Given the description of an element on the screen output the (x, y) to click on. 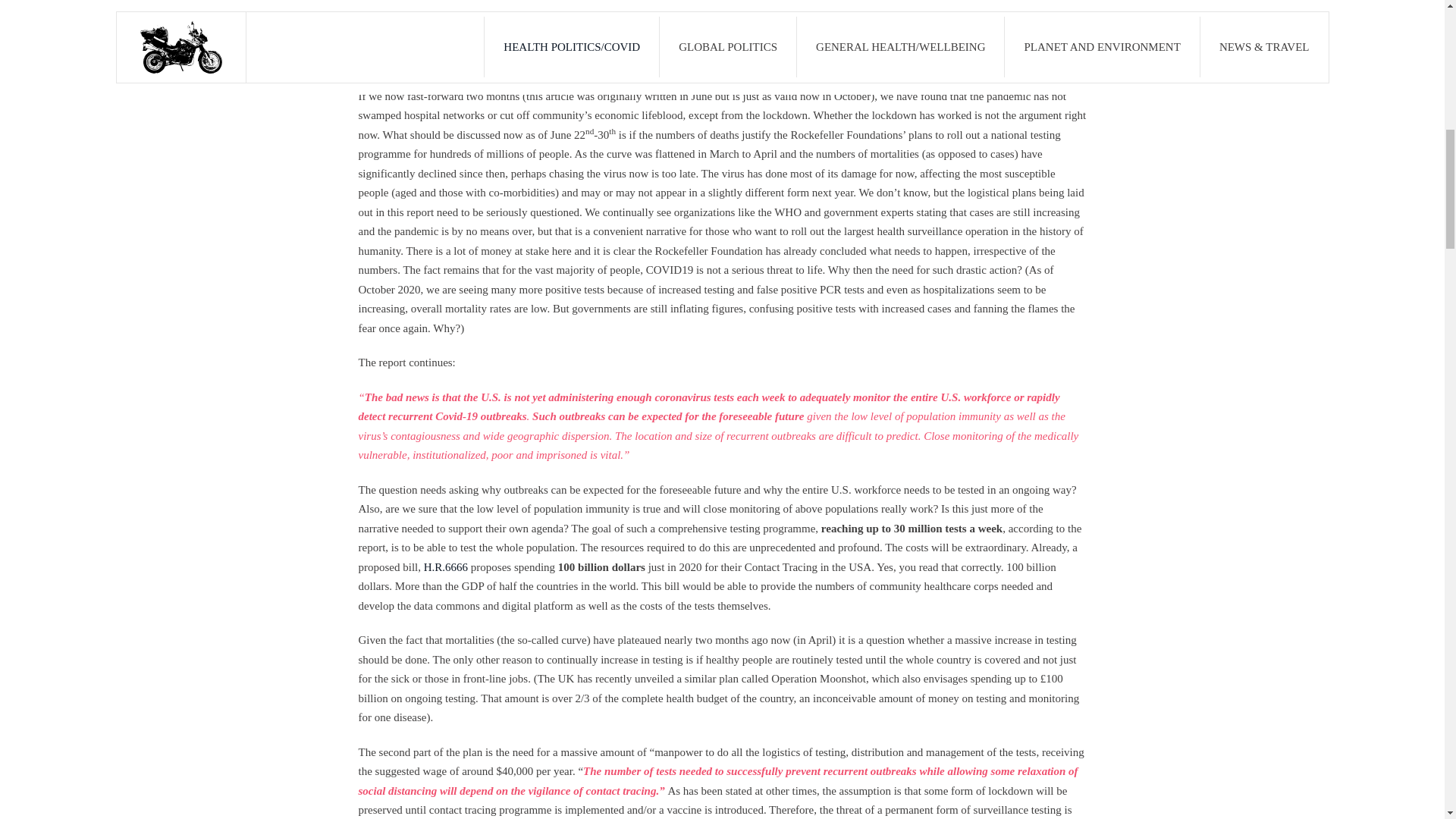
H.R.6666 (445, 567)
